Given the description of an element on the screen output the (x, y) to click on. 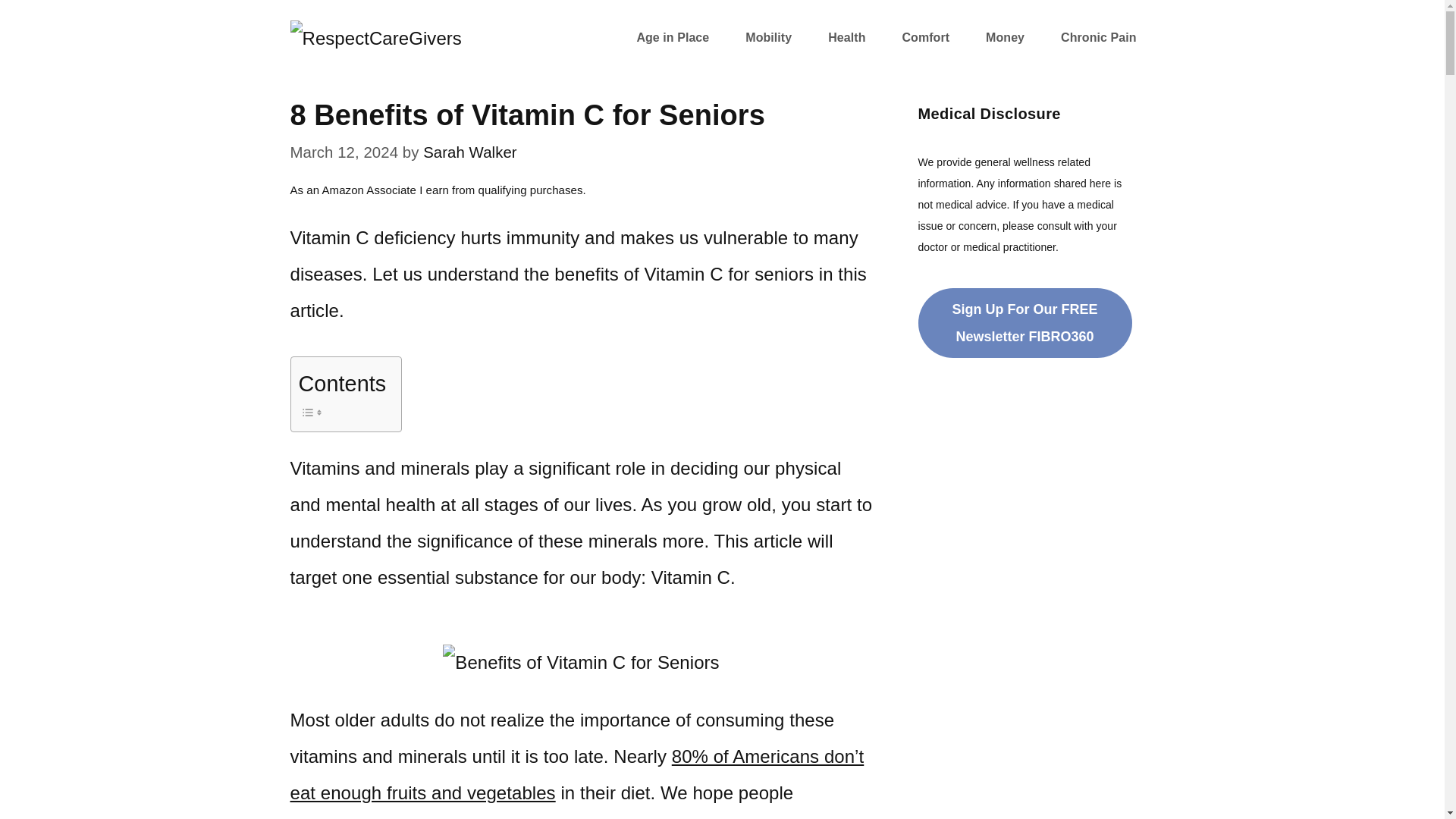
Comfort (925, 37)
Sarah Walker (469, 152)
Mobility (767, 37)
View all posts by Sarah Walker (469, 152)
Money (1005, 37)
Chronic Pain (1098, 37)
Age in Place (671, 37)
Health (846, 37)
